Given the description of an element on the screen output the (x, y) to click on. 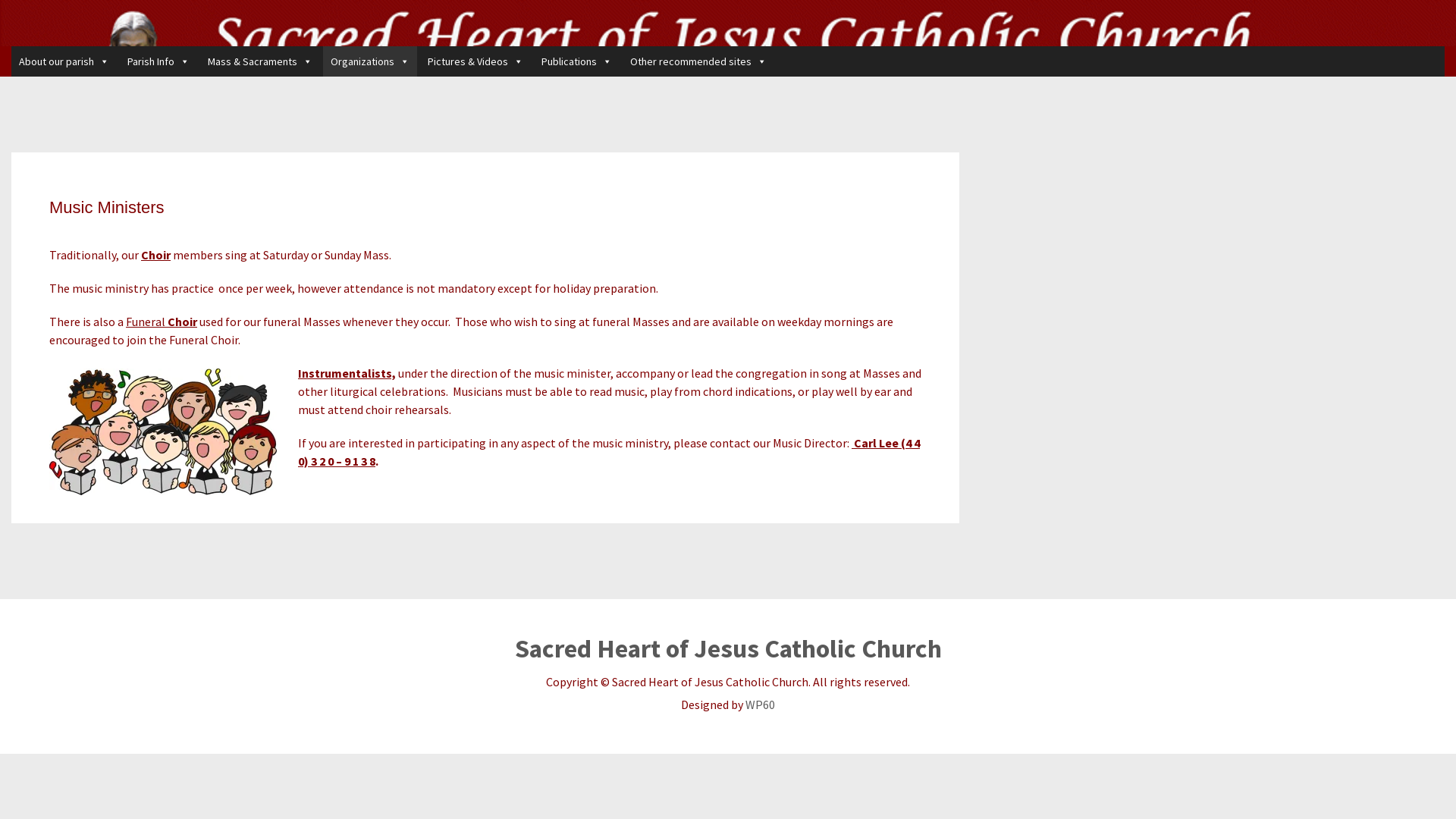
Publications Element type: text (576, 61)
Mass & Sacraments Element type: text (260, 61)
Pictures & Videos Element type: text (475, 61)
Organizations Element type: text (370, 61)
WP60 Element type: text (760, 704)
About our parish Element type: text (63, 61)
Other recommended sites Element type: text (698, 61)
Parish Info Element type: text (158, 61)
